Given the description of an element on the screen output the (x, y) to click on. 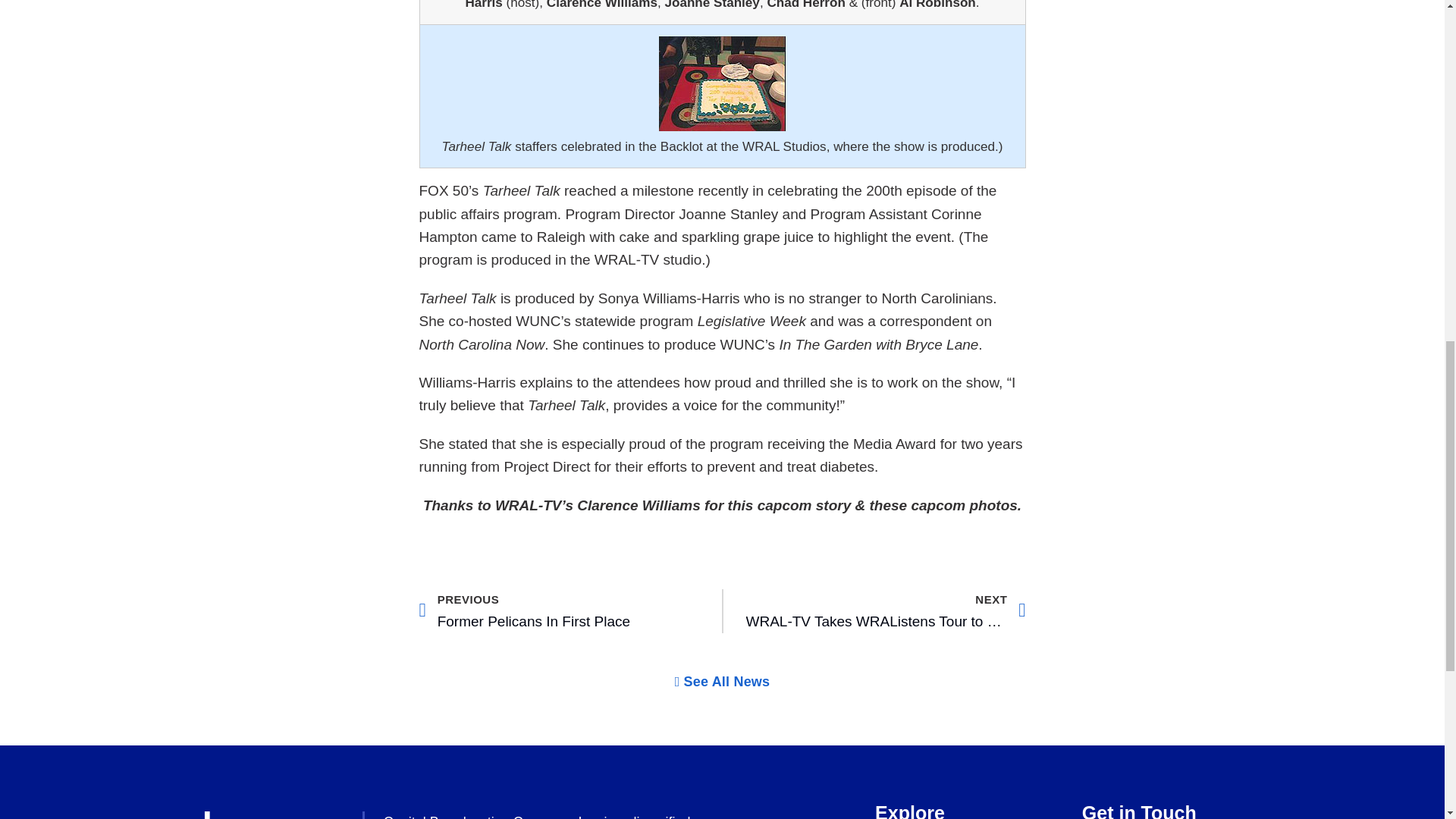
See All News (722, 681)
